Given the description of an element on the screen output the (x, y) to click on. 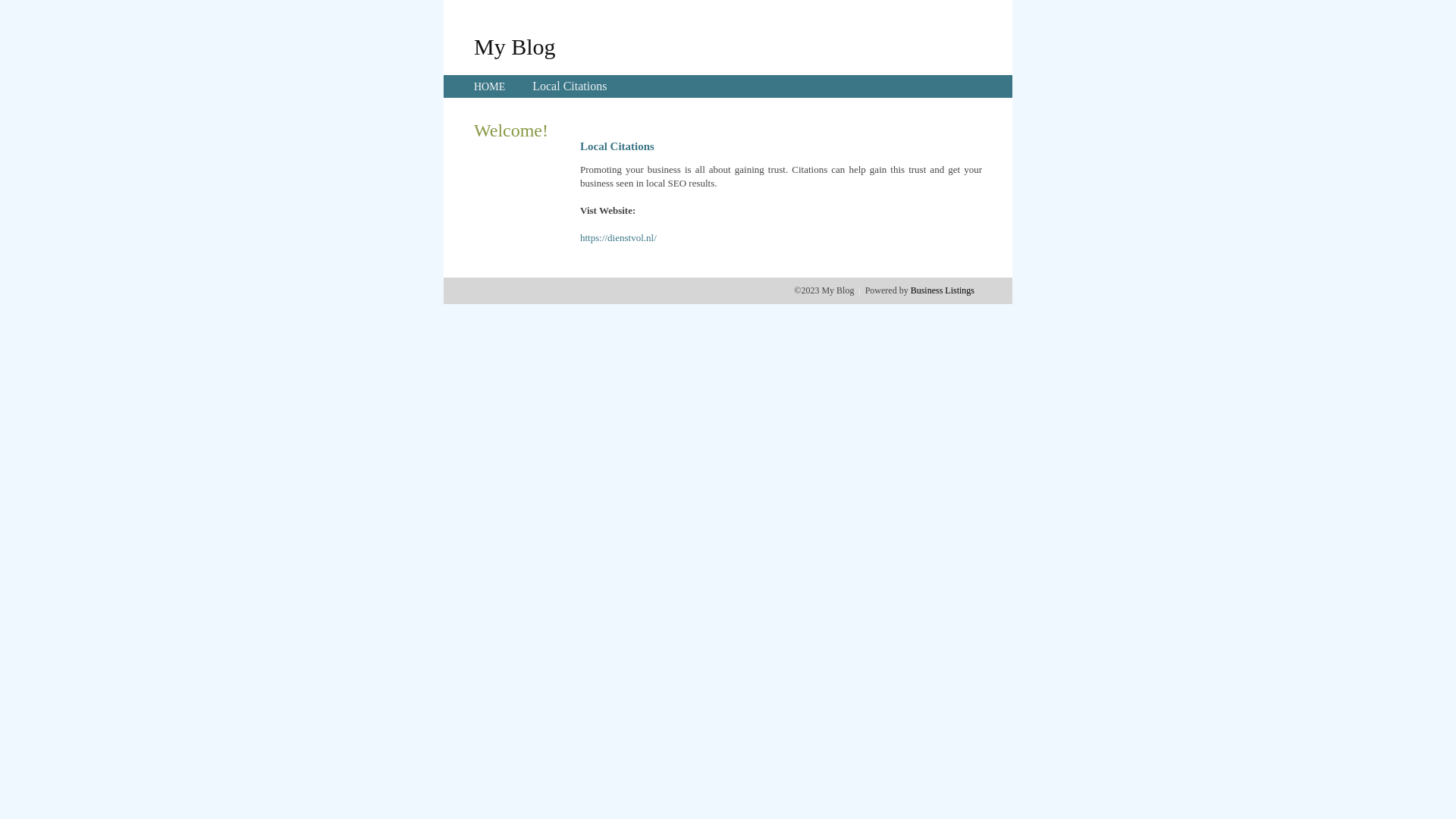
My Blog Element type: text (514, 46)
Local Citations Element type: text (569, 85)
https://dienstvol.nl/ Element type: text (618, 237)
Business Listings Element type: text (942, 290)
HOME Element type: text (489, 86)
